Given the description of an element on the screen output the (x, y) to click on. 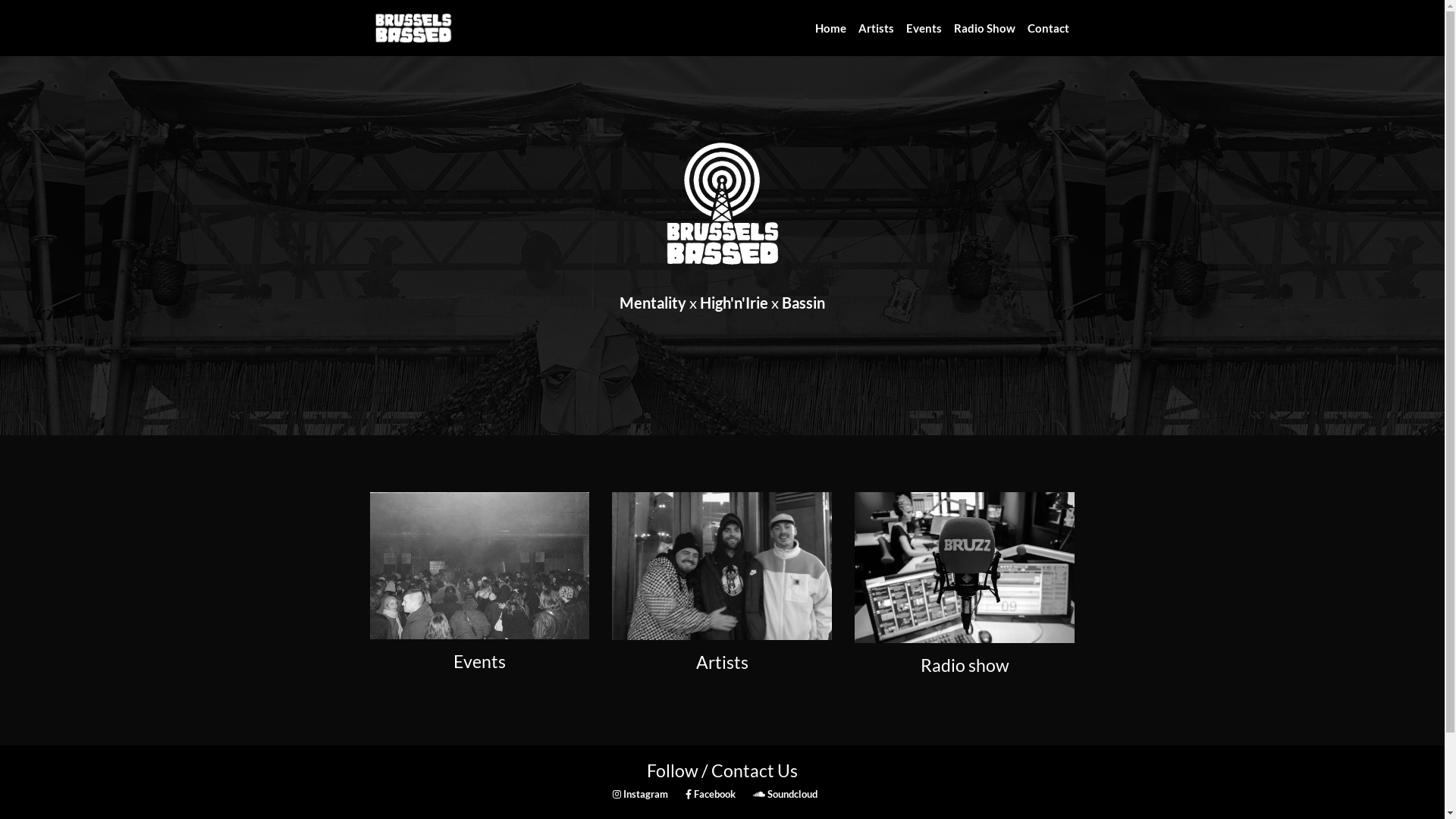
Soundcloud Element type: text (784, 793)
Artists Element type: text (876, 28)
Events Element type: text (479, 613)
Home Element type: text (829, 28)
Radio show Element type: text (964, 616)
Artists Element type: text (721, 614)
Events Element type: text (923, 28)
Radio Show Element type: text (984, 28)
Facebook Element type: text (710, 793)
Contact Element type: text (1047, 28)
Instagram Element type: text (641, 793)
